Given the description of an element on the screen output the (x, y) to click on. 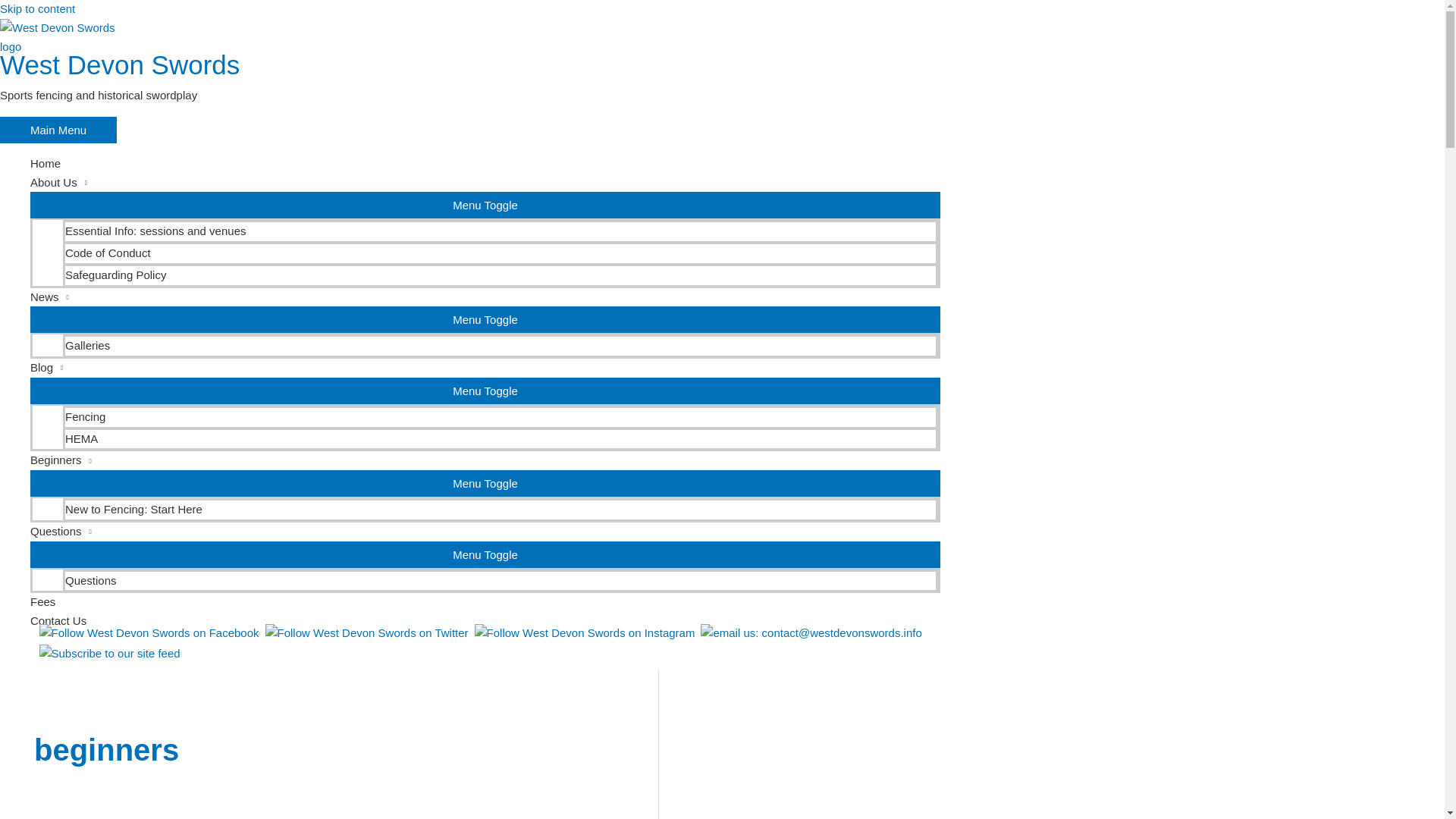
Home (485, 163)
About Us (485, 181)
Beginners (485, 460)
New to Fencing: Start Here (499, 508)
Skip to content (37, 8)
Fees (485, 601)
Follow West Devon Swords on Instagram (584, 634)
Fencing (499, 416)
HEMA (499, 438)
Contact Us (485, 620)
Follow West Devon Swords on Twitter (366, 634)
Main Menu (58, 130)
Skip to content (37, 8)
Questions (485, 531)
West Devon Swords (120, 64)
